Given the description of an element on the screen output the (x, y) to click on. 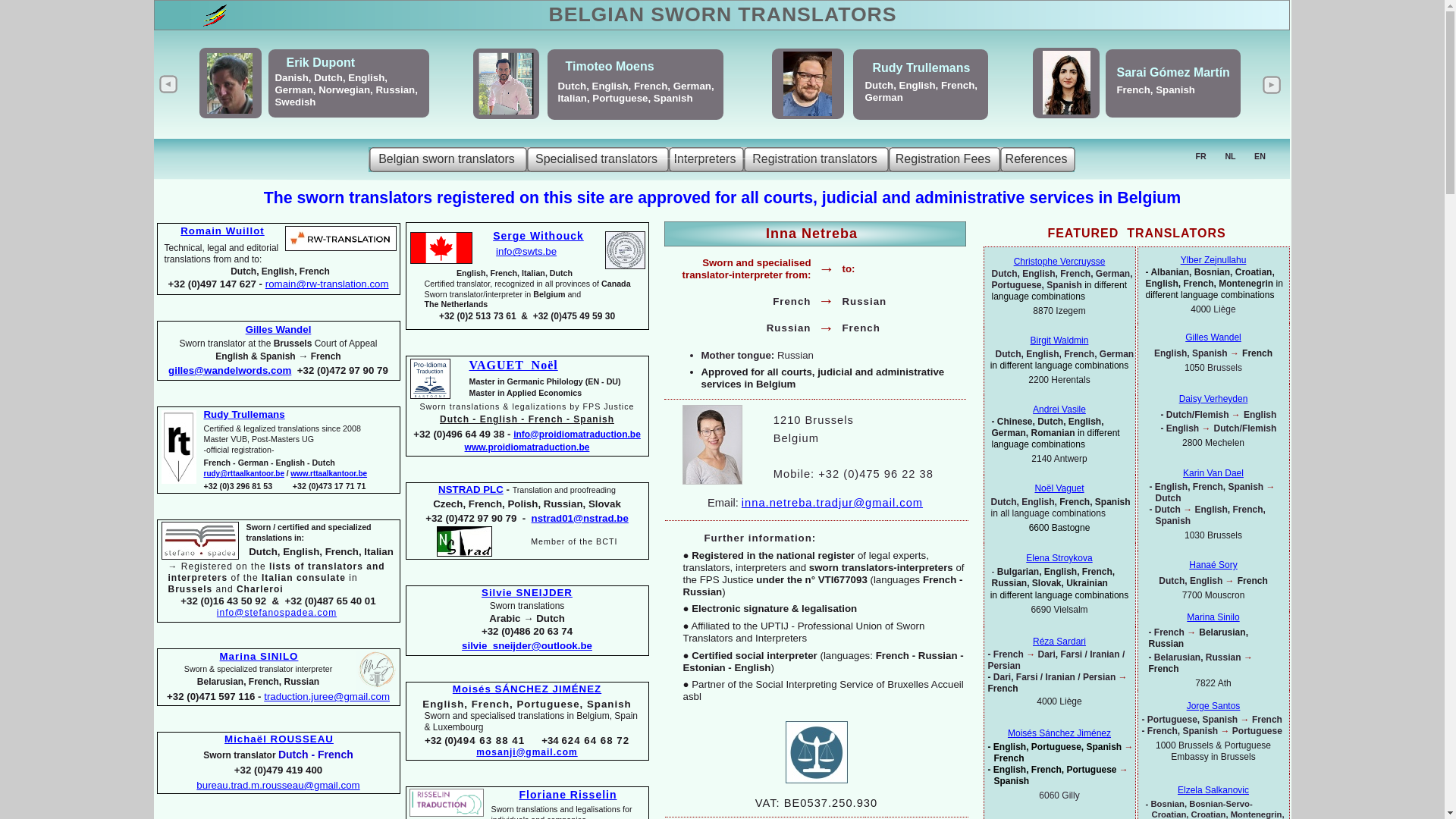
traduction.juree@gmail.com Element type: text (326, 696)
Birgit Waldmin Element type: text (1059, 340)
Gilles Wandel Element type: text (1213, 337)
Serge Withouck - certified translator in Canada Element type: hover (625, 250)
Andrei Vasile Element type: text (1058, 409)
info@proidiomatraduction.be Element type: text (576, 434)
Dutch, English, French, German, Italian Element type: text (334, 90)
Registration Fees Element type: text (944, 159)
rudy@rttaalkantoor.be Element type: text (243, 473)
FR Element type: text (1200, 155)
Dutch, English, French, Spanish Element type: text (1137, 91)
info@stefanospadea.com Element type: text (276, 612)
Karin Van Dael Element type: text (1135, 68)
Karin Van Dael Element type: text (1213, 472)
Chris Falque Element type: text (323, 66)
romain@rw-translation.com Element type: text (327, 283)
Serge Withouck Element type: text (537, 235)
Floriane Risselin Element type: text (567, 794)
Daisy Verheyden Element type: text (1213, 398)
Jorge Santos Element type: text (1213, 705)
BELGIAN SWORN TRANSLATORS Element type: text (723, 14)
www.rttaalkantoor.be Element type: text (328, 473)
Interpreters Element type: text (705, 159)
in Belgium & Spain Element type: text (1163, 97)
Gilles Wandel Element type: text (278, 329)
Rudy Trullemans Element type: text (243, 414)
Silvie SNEIJDER Element type: text (526, 592)
RW-Translation Element type: hover (340, 238)
EN Element type: text (1259, 155)
Francis Auquier Element type: text (590, 71)
Marina SINILO Element type: text (258, 656)
NSTRAD PLC Element type: text (470, 489)
Maryam Hedayati Monfared Element type: text (852, 74)
bureau.trad.m.rousseau@gmail.com Element type: text (277, 784)
NL Element type: text (1229, 155)
Christophe Vercruysse Element type: text (1059, 261)
www.proidiomatraduction.be Element type: text (526, 447)
Elzela Salkanovic Element type: text (1212, 789)
Inna Netreba - Russian, French Element type: text (793, 161)
Belgian sworn translators Element type: text (447, 159)
Specialised translators Element type: text (597, 159)
Romain Wuillot Element type: text (222, 230)
Marina Sinilo Element type: text (1212, 616)
Risselin Traduction Element type: hover (446, 802)
Dari, Farsi / Persian, French Element type: text (836, 91)
Registration translators Element type: text (815, 159)
info@swts.be Element type: text (525, 251)
Elena Stroykova Element type: text (1059, 557)
RT Taalkantoor BV Element type: hover (177, 446)
silvie_sneijder@outlook.be Element type: text (526, 645)
www.proidiomatraduction.be Element type: hover (429, 378)
nstrad01@nstrad.be Element type: text (579, 518)
gilles@wandelwords.com Element type: text (229, 370)
Sworn translators and interpreters in Belgium Element type: text (764, 156)
Sworn translators and interpreters in Belgium Element type: hover (721, 15)
inna.netreba.tradjur@gmail.com Element type: text (831, 502)
References Element type: text (1036, 159)
Ylber Zejnullahu Element type: text (1213, 259)
mosanji@gmail.com Element type: text (526, 751)
English, French, German Element type: text (590, 91)
